Given the description of an element on the screen output the (x, y) to click on. 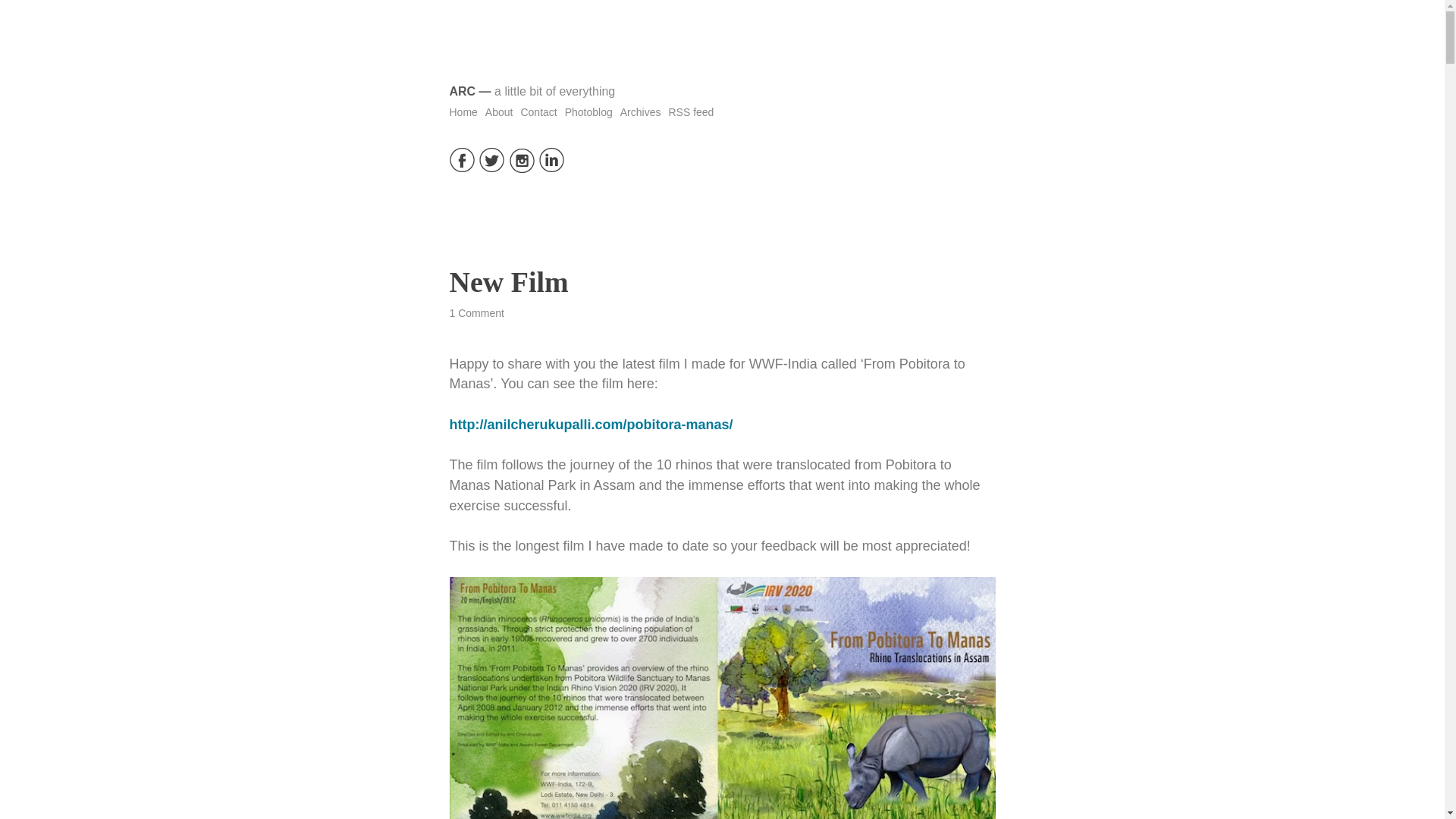
From Pobitora to Manas (590, 424)
Contact (537, 111)
Photoblog (588, 111)
About (498, 111)
Instagram Feed (521, 168)
New Film (507, 282)
Facebook Page (461, 168)
New Film (507, 282)
ARC (462, 91)
Home (462, 111)
Linkedin Profile (551, 168)
Archives (640, 111)
1 Comment (475, 313)
Twitter Feed (492, 168)
RSS feed (690, 111)
